Given the description of an element on the screen output the (x, y) to click on. 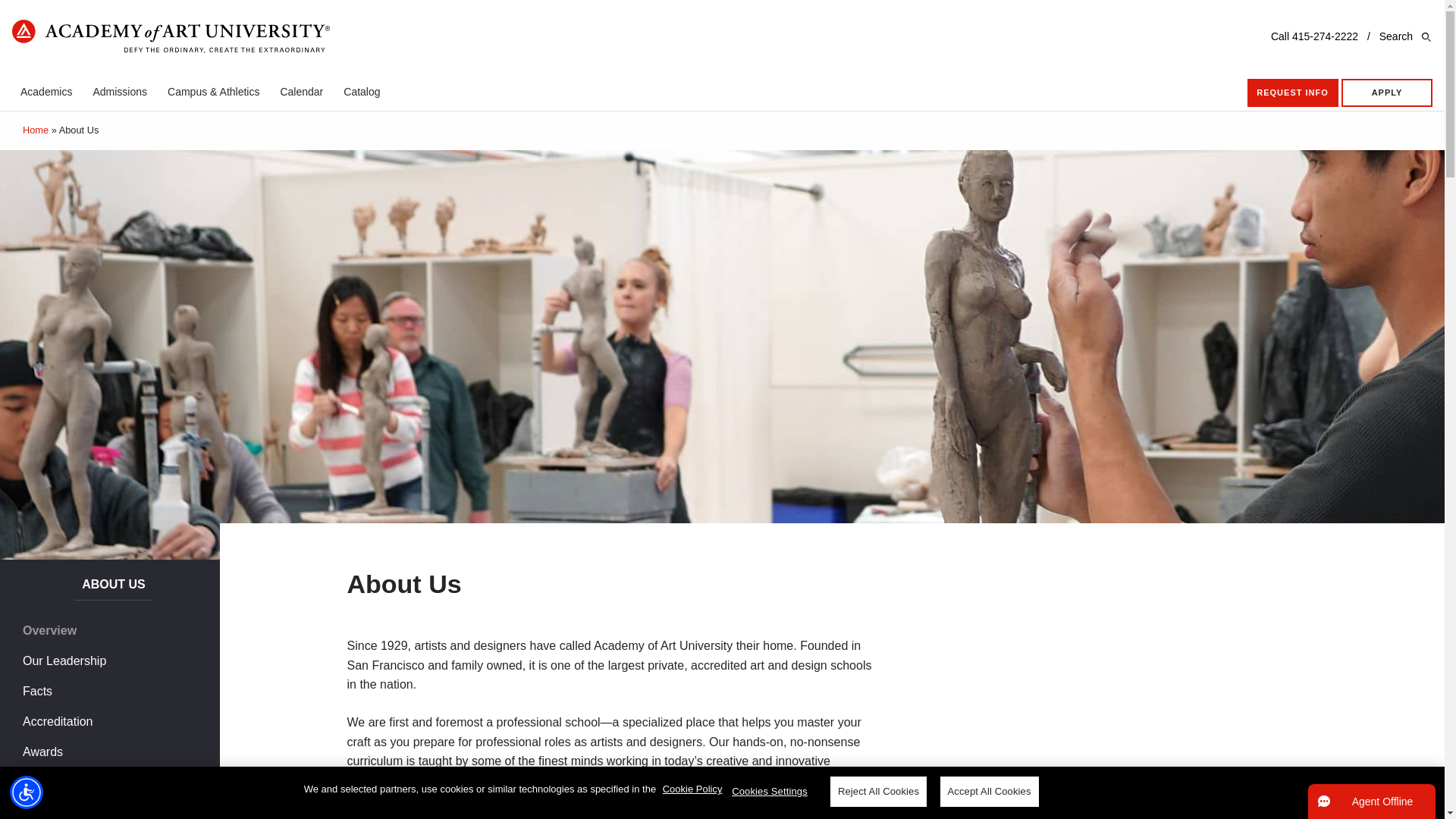
Accessibility Menu (26, 792)
Academics (46, 91)
415-274-2222 (1325, 36)
Academy of Art Univeristy Home Page (170, 38)
